Given the description of an element on the screen output the (x, y) to click on. 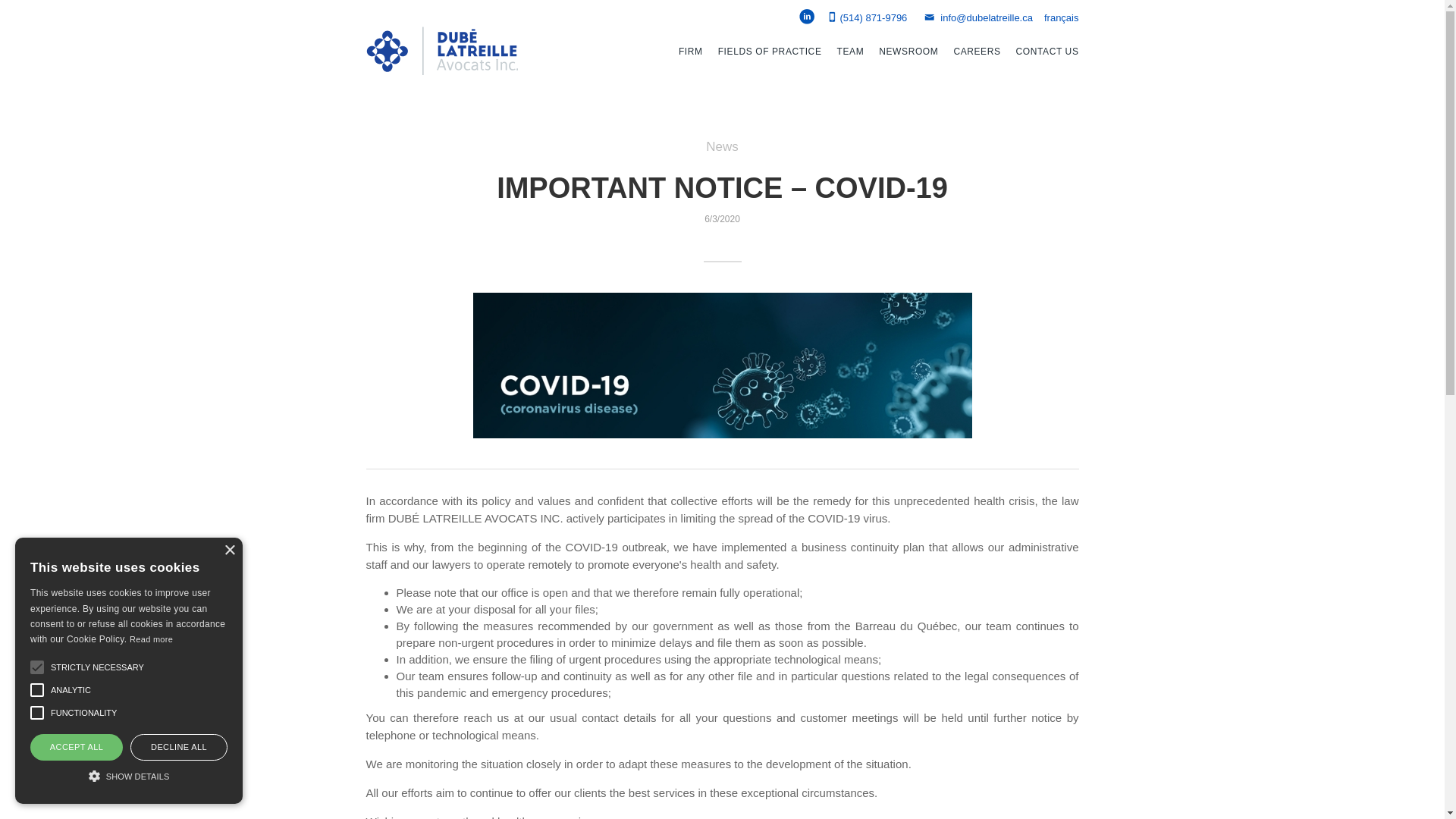
TEAM (850, 51)
CONTACT US (1047, 51)
CAREERS (976, 51)
Read more (151, 638)
NEWSROOM (908, 51)
